Given the description of an element on the screen output the (x, y) to click on. 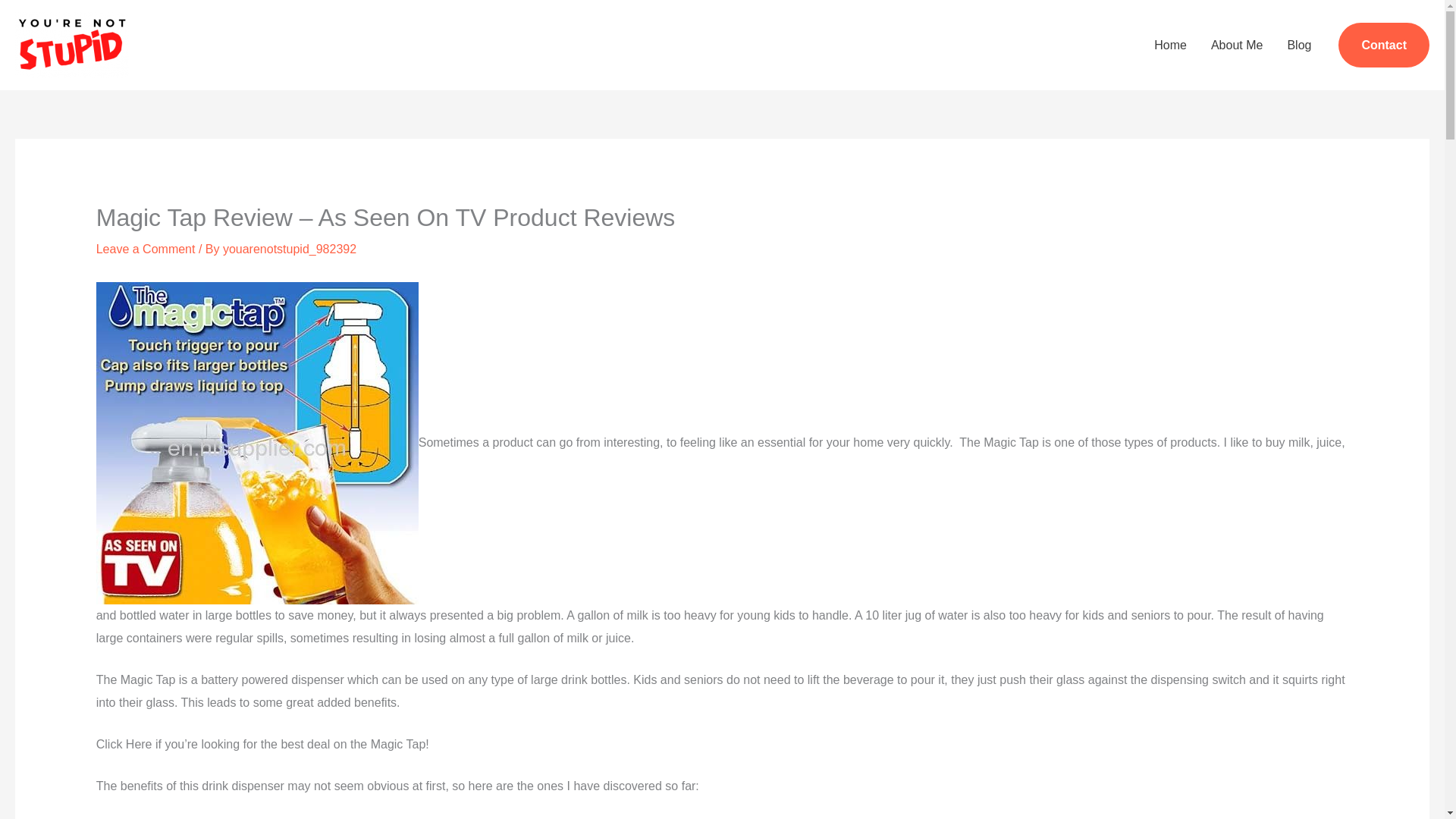
Contact (1383, 44)
Leave a Comment (145, 248)
Home (1169, 44)
About Me (1236, 44)
Blog (1299, 44)
